Given the description of an element on the screen output the (x, y) to click on. 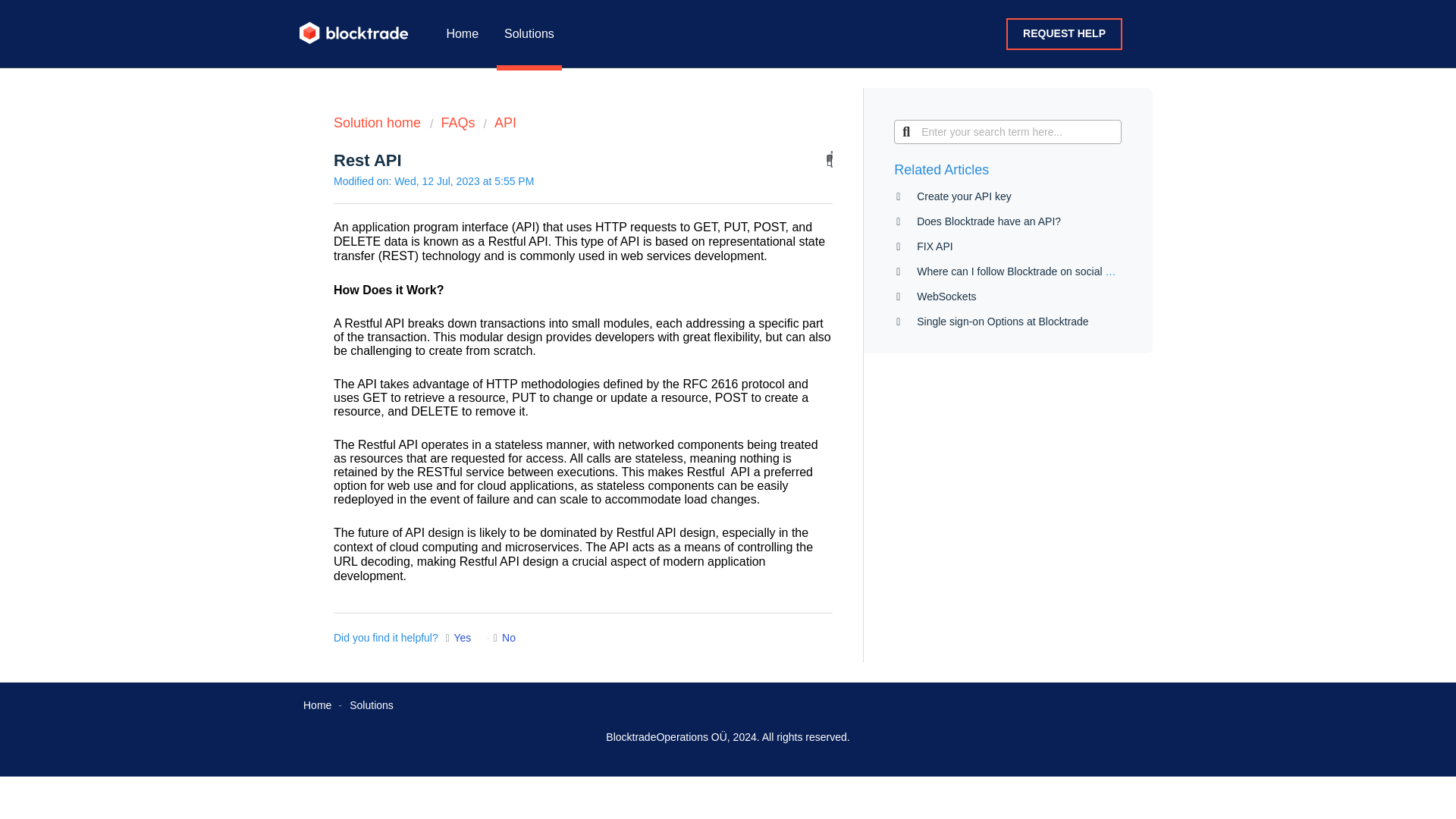
FIX API (934, 246)
API (499, 122)
Home (316, 705)
Create your API key (964, 196)
REQUEST HELP (1064, 33)
Where can I follow Blocktrade on social media? (1028, 271)
Solutions (371, 705)
Solutions (529, 33)
Solution home (379, 122)
Does Blocktrade have an API? (989, 221)
